Given the description of an element on the screen output the (x, y) to click on. 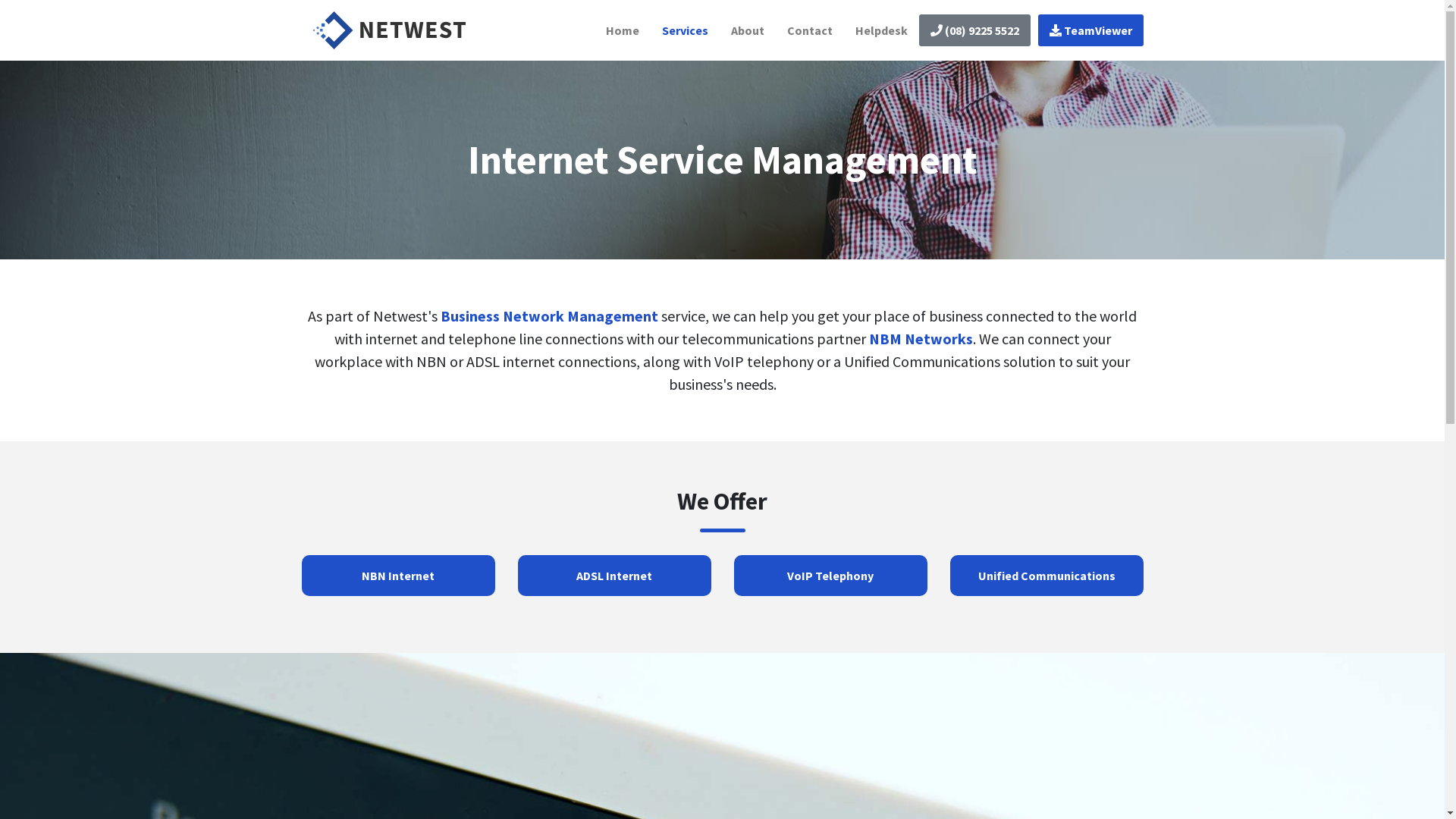
About Element type: text (746, 30)
Services Element type: text (684, 30)
TeamViewer Element type: text (1089, 30)
Contact Element type: text (809, 30)
(08) 9225 5522 Element type: text (974, 30)
Home Element type: text (622, 30)
Business Network Management Element type: text (549, 315)
NBM Networks Element type: text (920, 338)
Helpdesk Element type: text (880, 30)
